Given the description of an element on the screen output the (x, y) to click on. 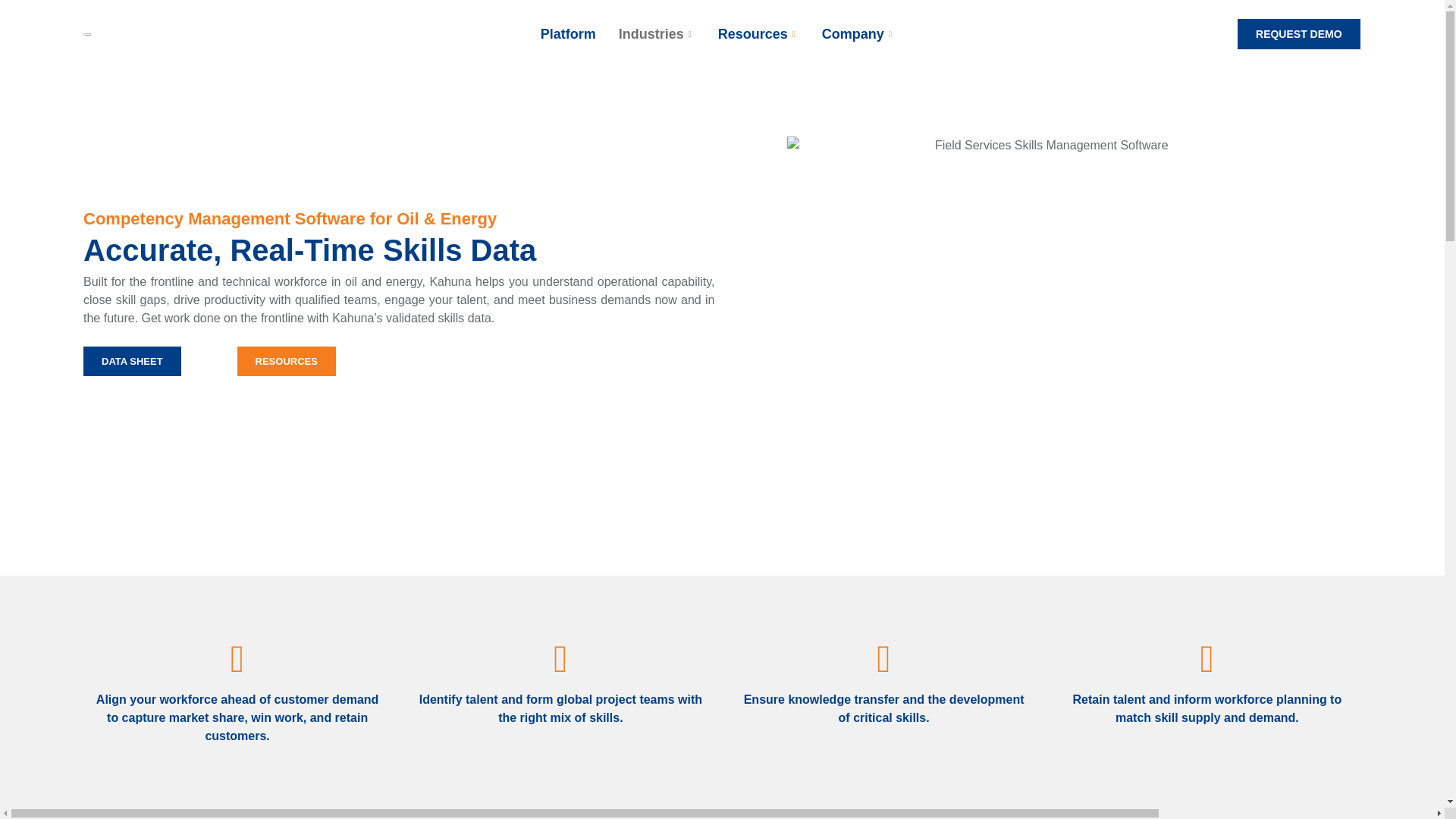
Industries (656, 34)
Resources (722, 33)
Company (758, 34)
Platform (858, 34)
